Given the description of an element on the screen output the (x, y) to click on. 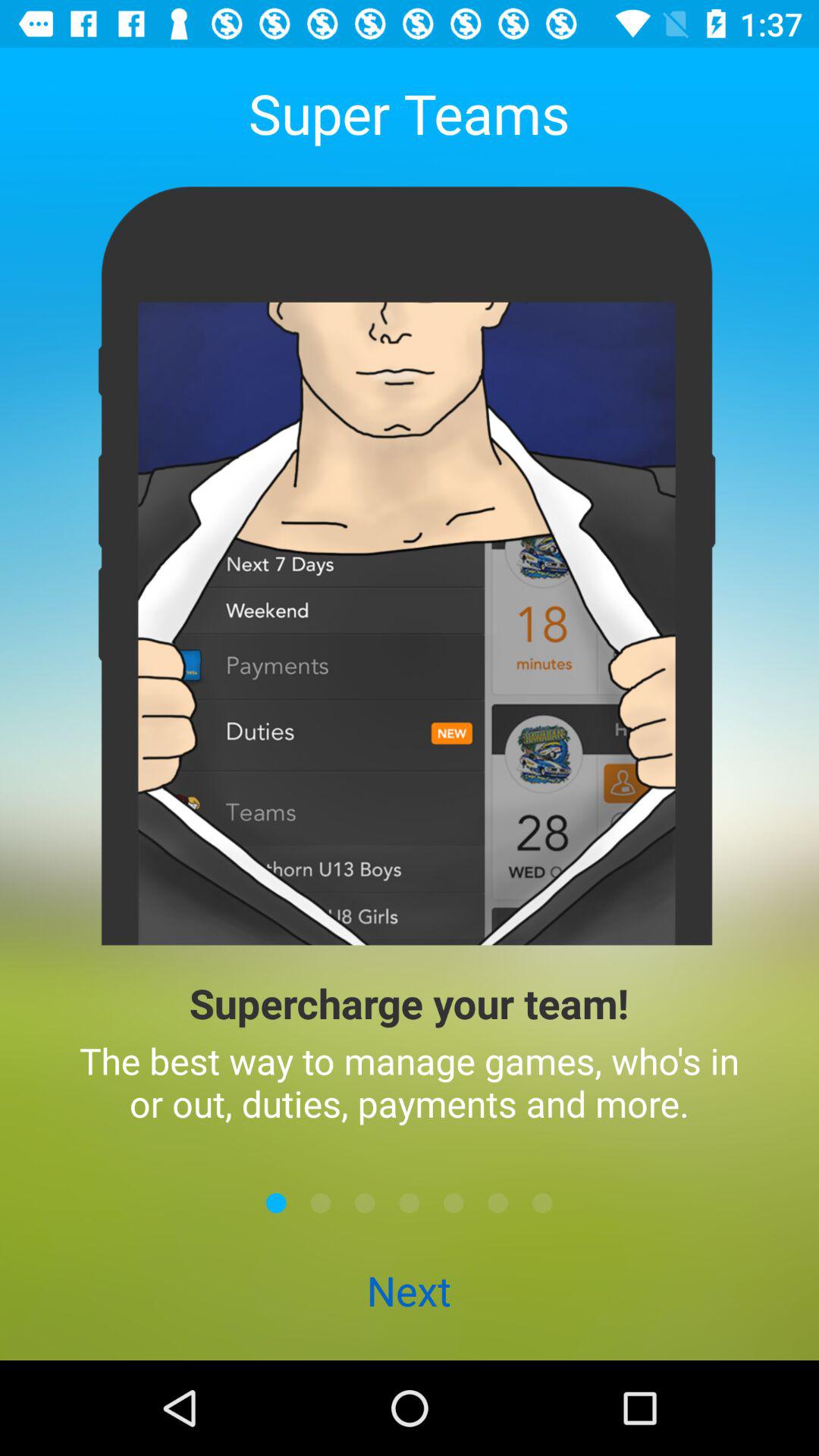
open page four (409, 1203)
